Given the description of an element on the screen output the (x, y) to click on. 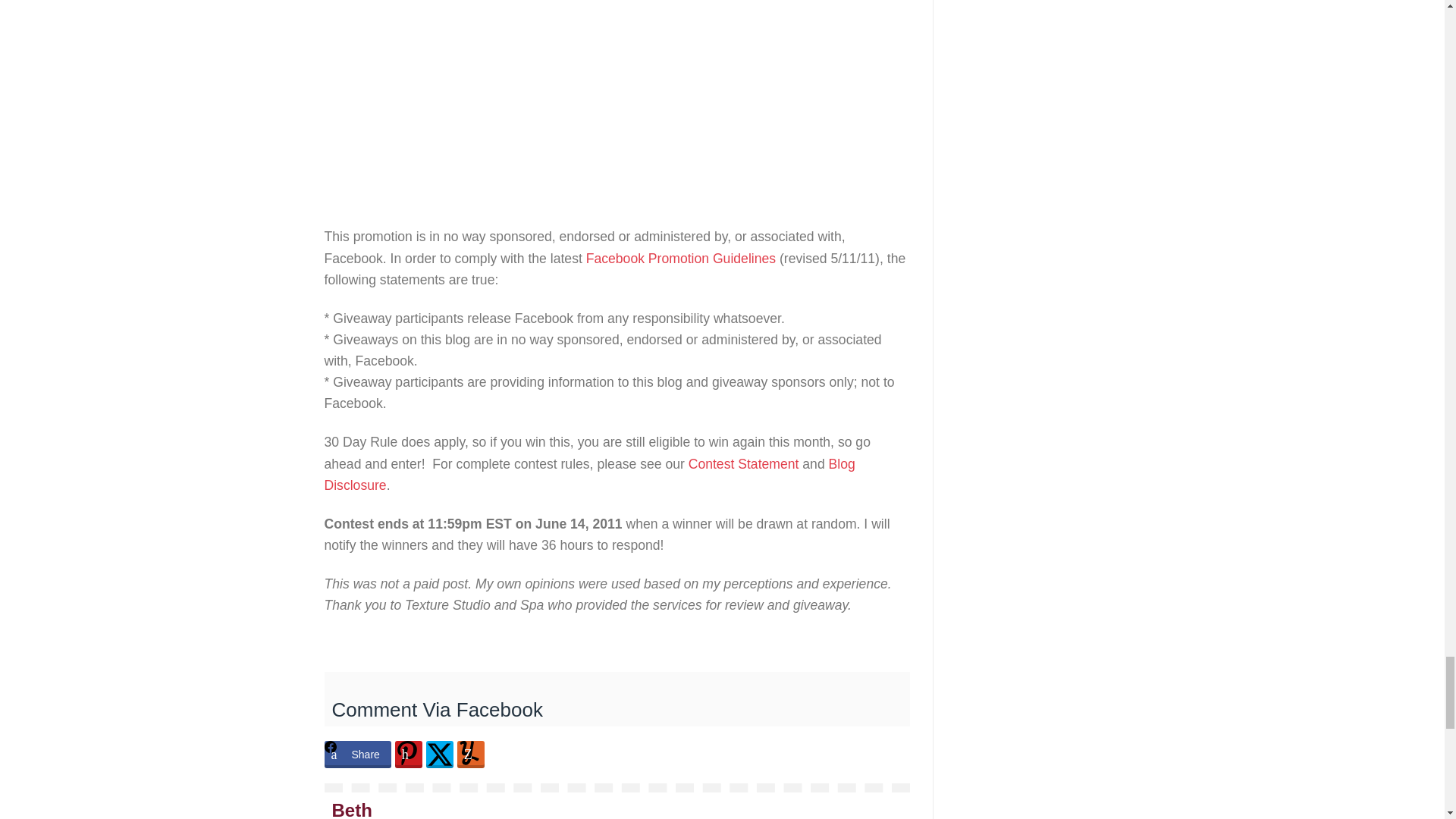
Share on Share (357, 754)
Share on - (439, 754)
Beth (351, 809)
Share on - (470, 754)
Share on - (408, 754)
